Given the description of an element on the screen output the (x, y) to click on. 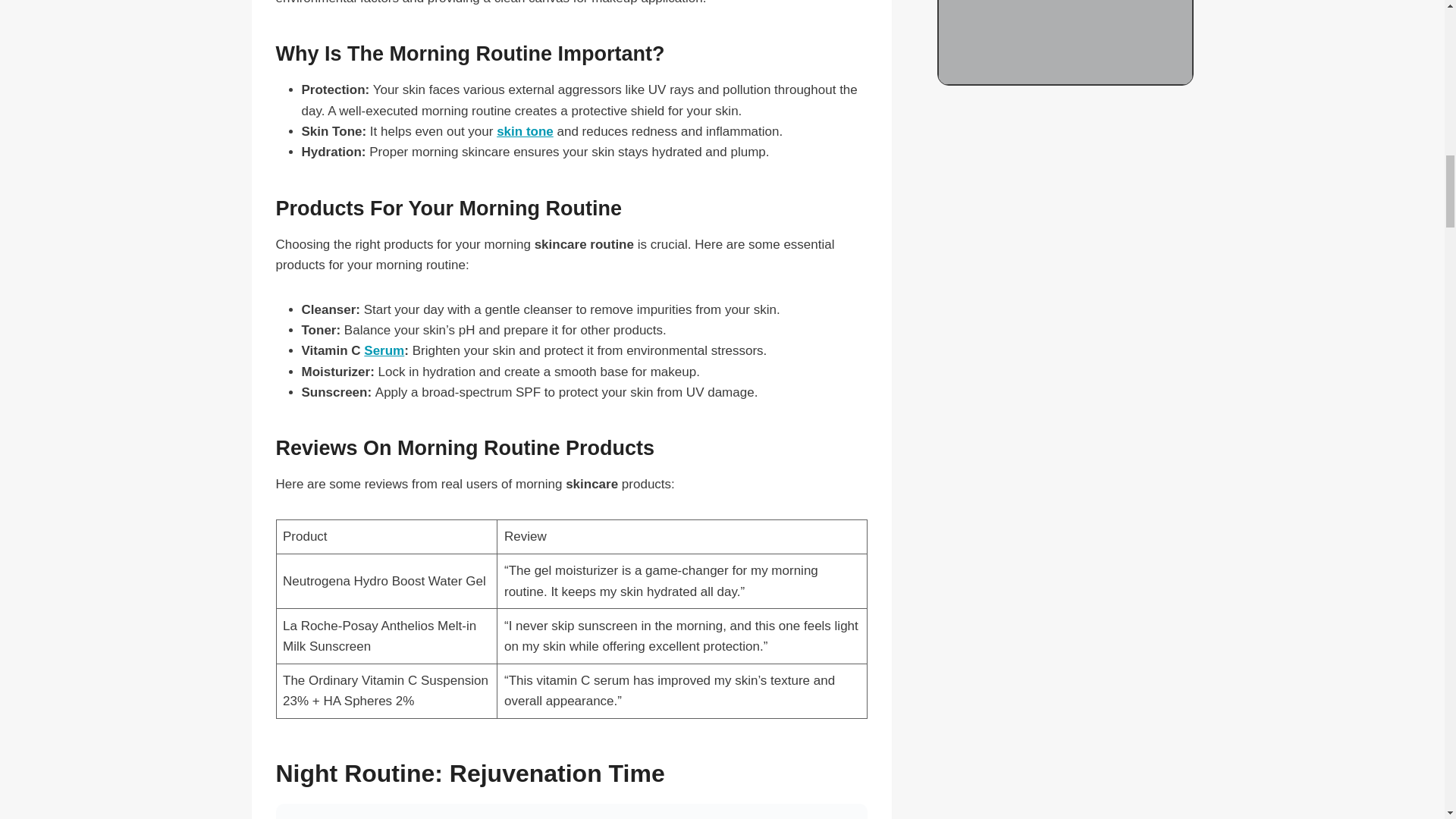
Morning vs Night Skin Care Routine: An Overview 3 (571, 811)
